Given the description of an element on the screen output the (x, y) to click on. 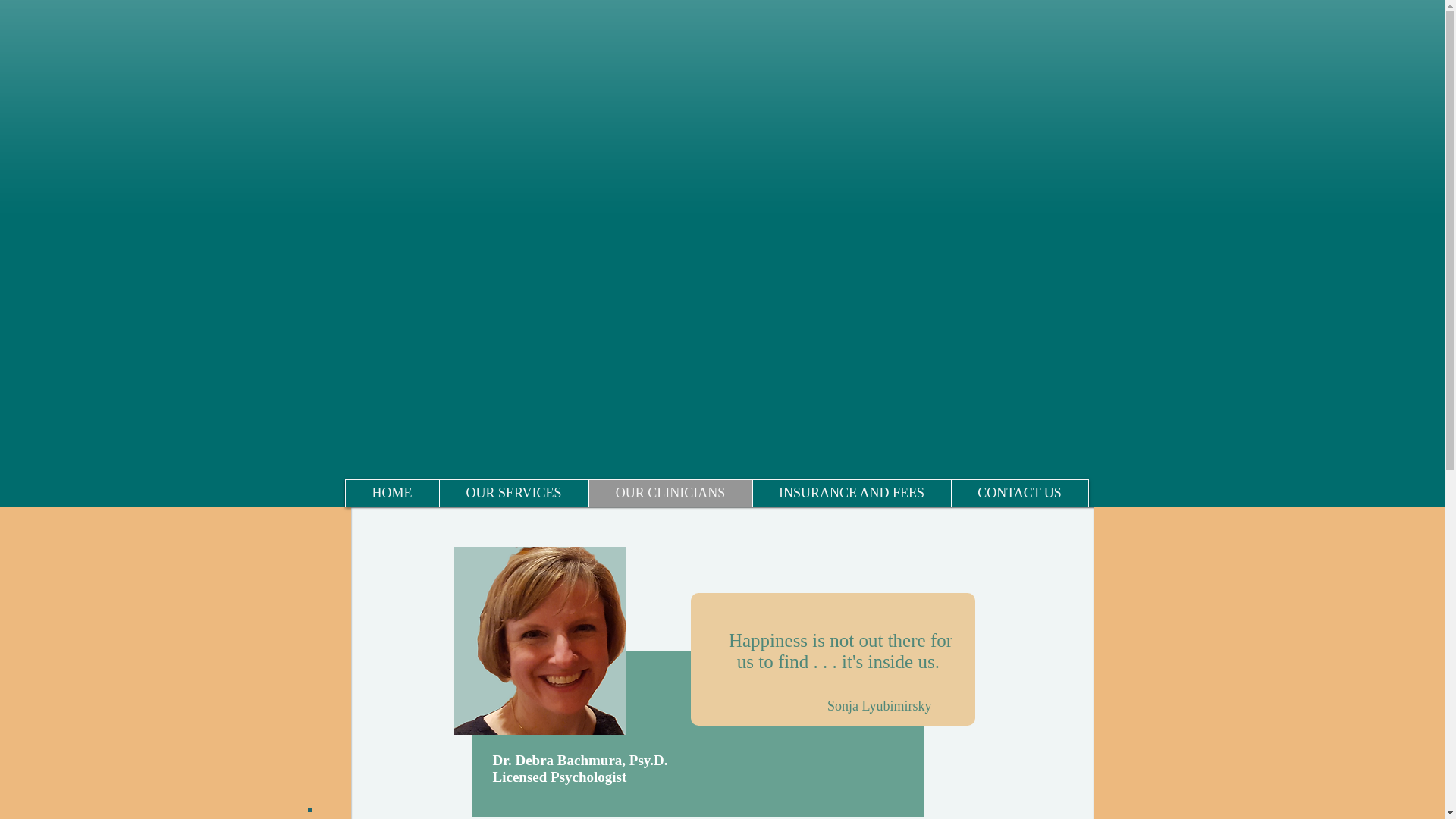
CONTACT US (1018, 492)
INSURANCE AND FEES (851, 492)
OUR SERVICES (513, 492)
OUR CLINICIANS (670, 492)
HOME (392, 492)
